Given the description of an element on the screen output the (x, y) to click on. 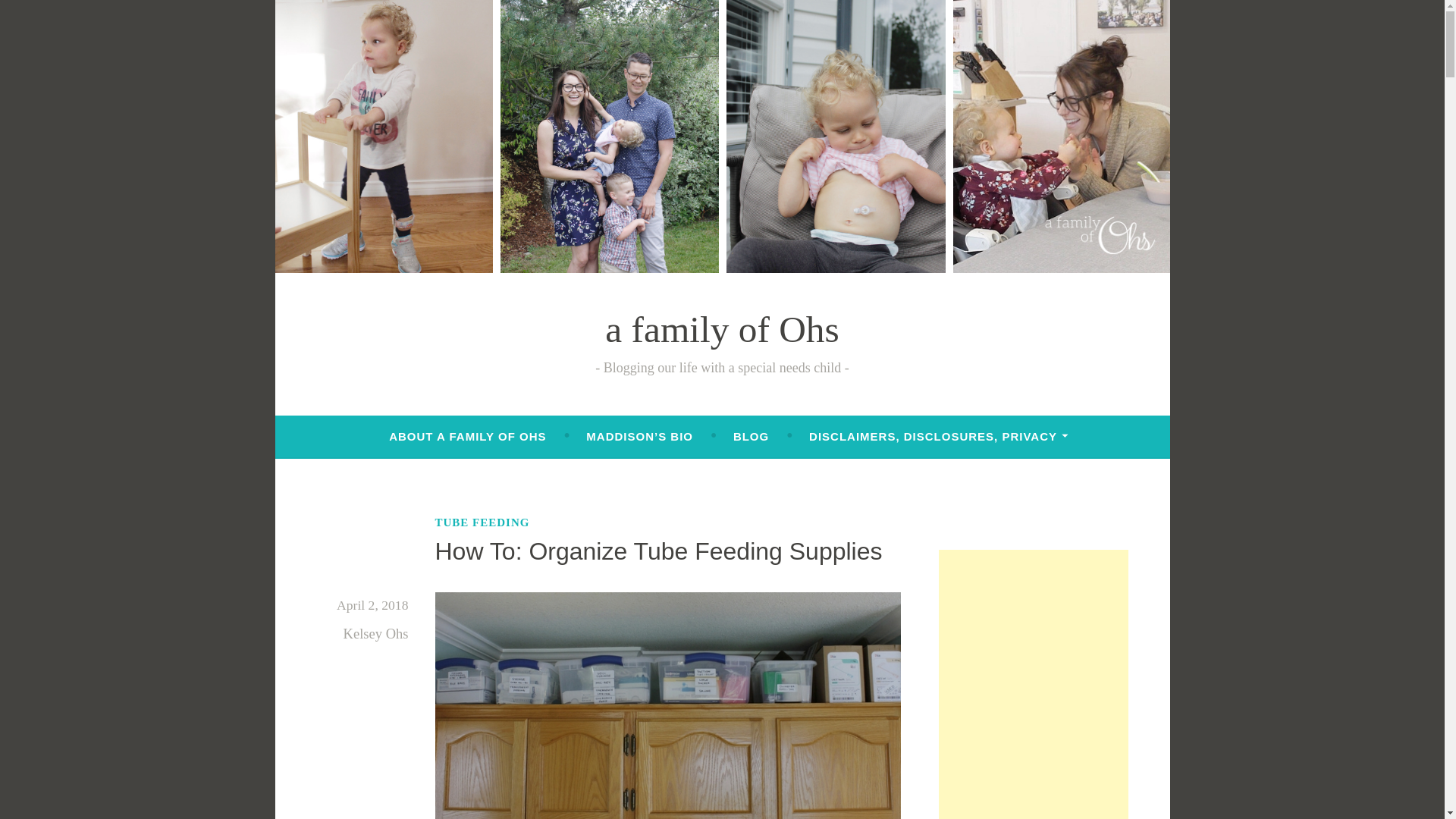
April 2, 2018 (372, 604)
ABOUT A FAMILY OF OHS (467, 436)
BLOG (750, 436)
TUBE FEEDING (482, 522)
a family of Ohs (721, 329)
DISCLAIMERS, DISCLOSURES, PRIVACY (938, 436)
Kelsey Ohs (376, 633)
